Given the description of an element on the screen output the (x, y) to click on. 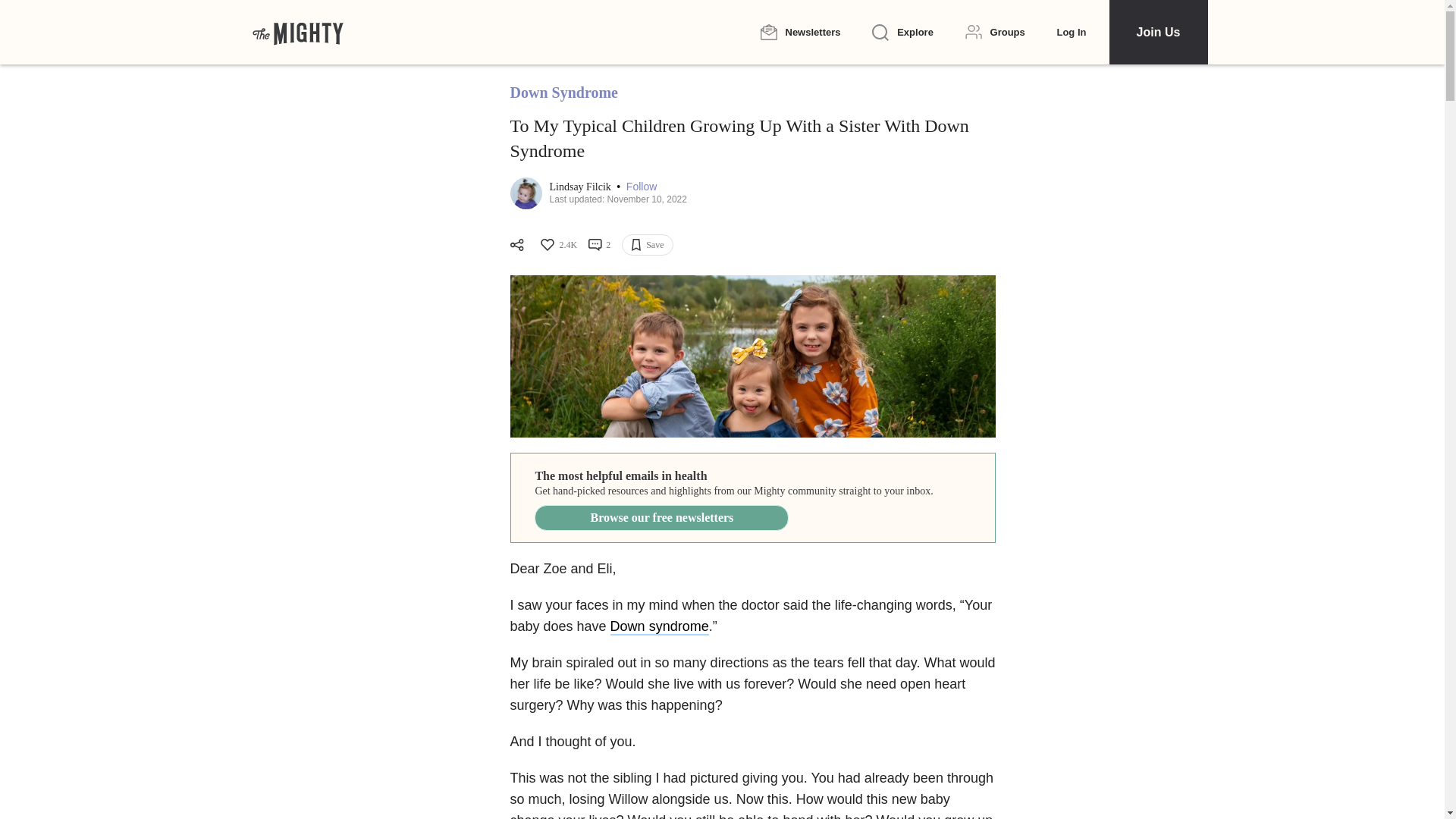
The Mighty (296, 32)
Groups (995, 32)
Join Us (1157, 32)
Down syndrome (659, 627)
Save (646, 244)
Follow (641, 186)
2 (599, 244)
2.4K (557, 244)
Browse our free newsletters (661, 517)
